Given the description of an element on the screen output the (x, y) to click on. 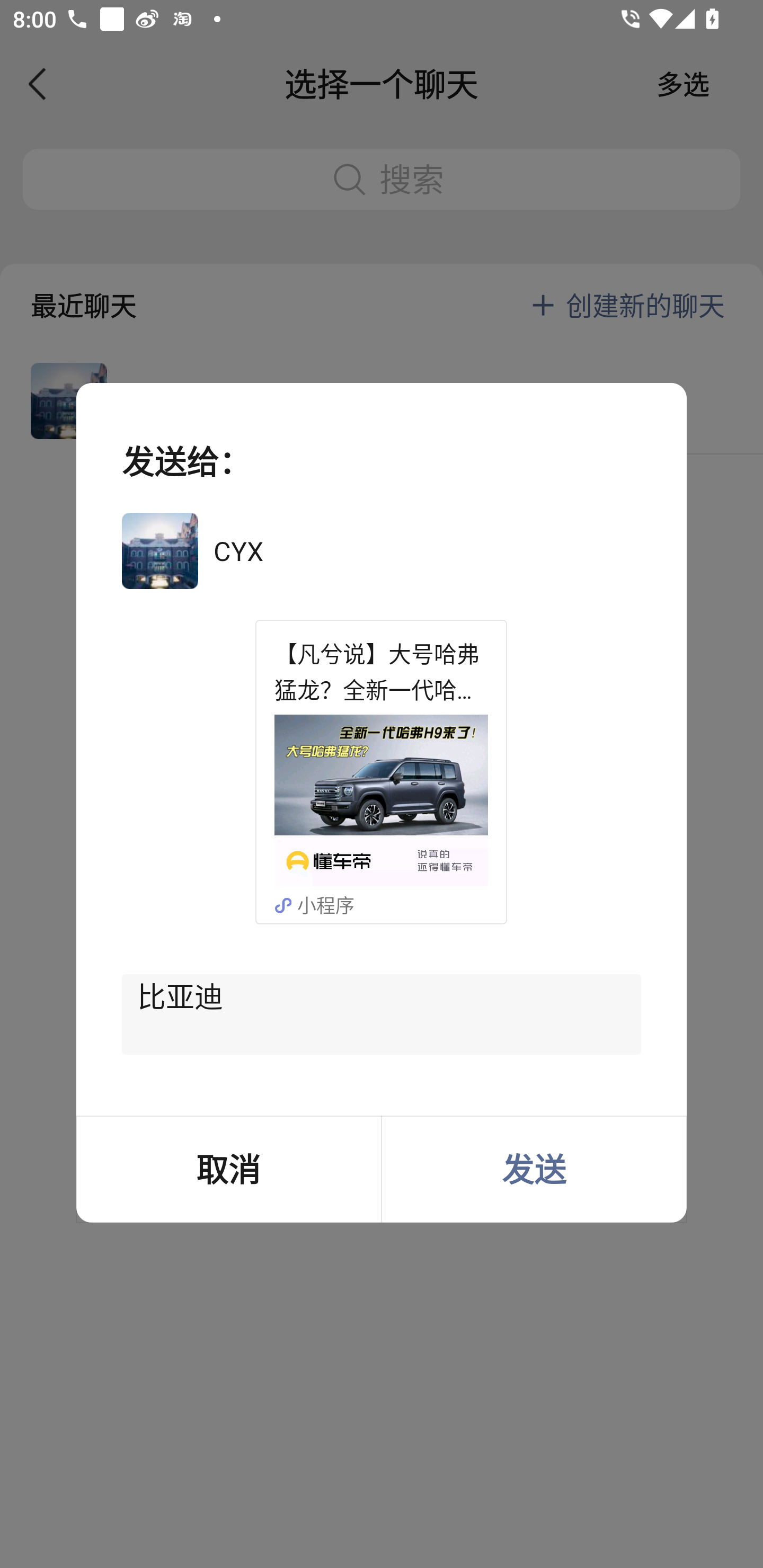
小程序 (335, 904)
比亚迪
 (381, 1014)
取消 (228, 1168)
发送 (534, 1168)
